Given the description of an element on the screen output the (x, y) to click on. 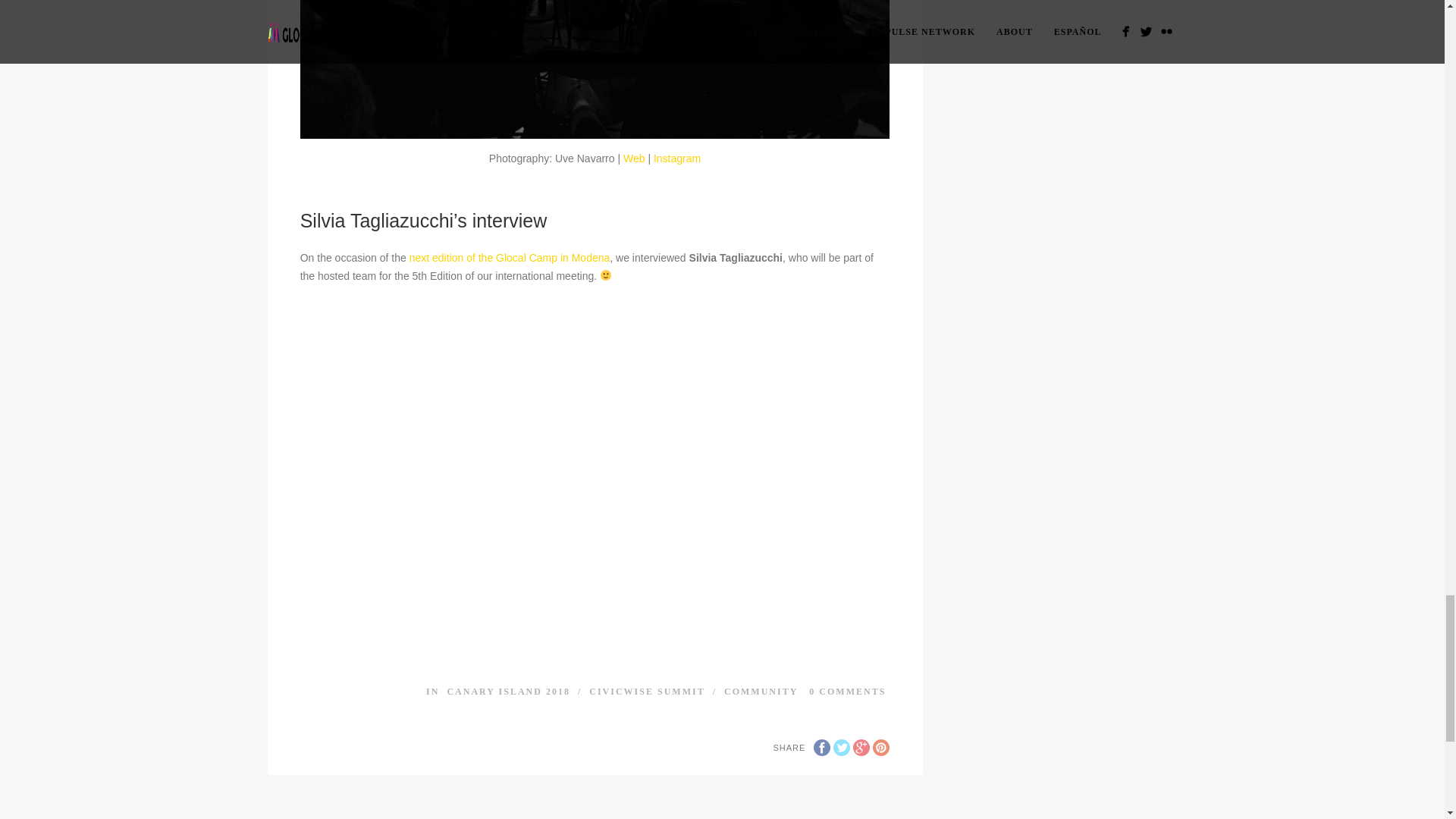
Twitter (841, 747)
Instagram (676, 158)
Facebook (821, 747)
Web (634, 158)
Pinterest (880, 747)
